Given the description of an element on the screen output the (x, y) to click on. 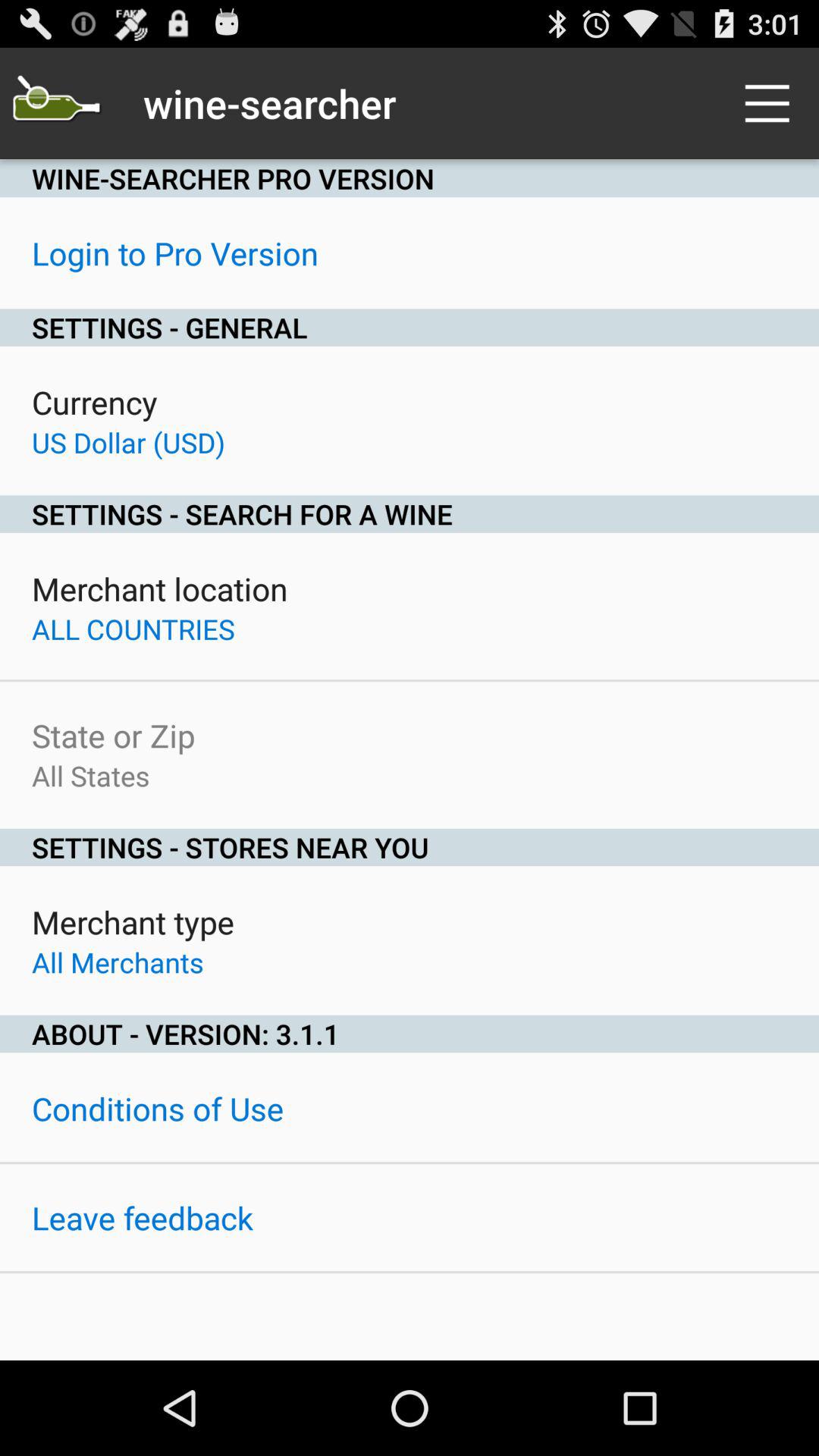
launch the icon above settings stores near item (90, 775)
